Given the description of an element on the screen output the (x, y) to click on. 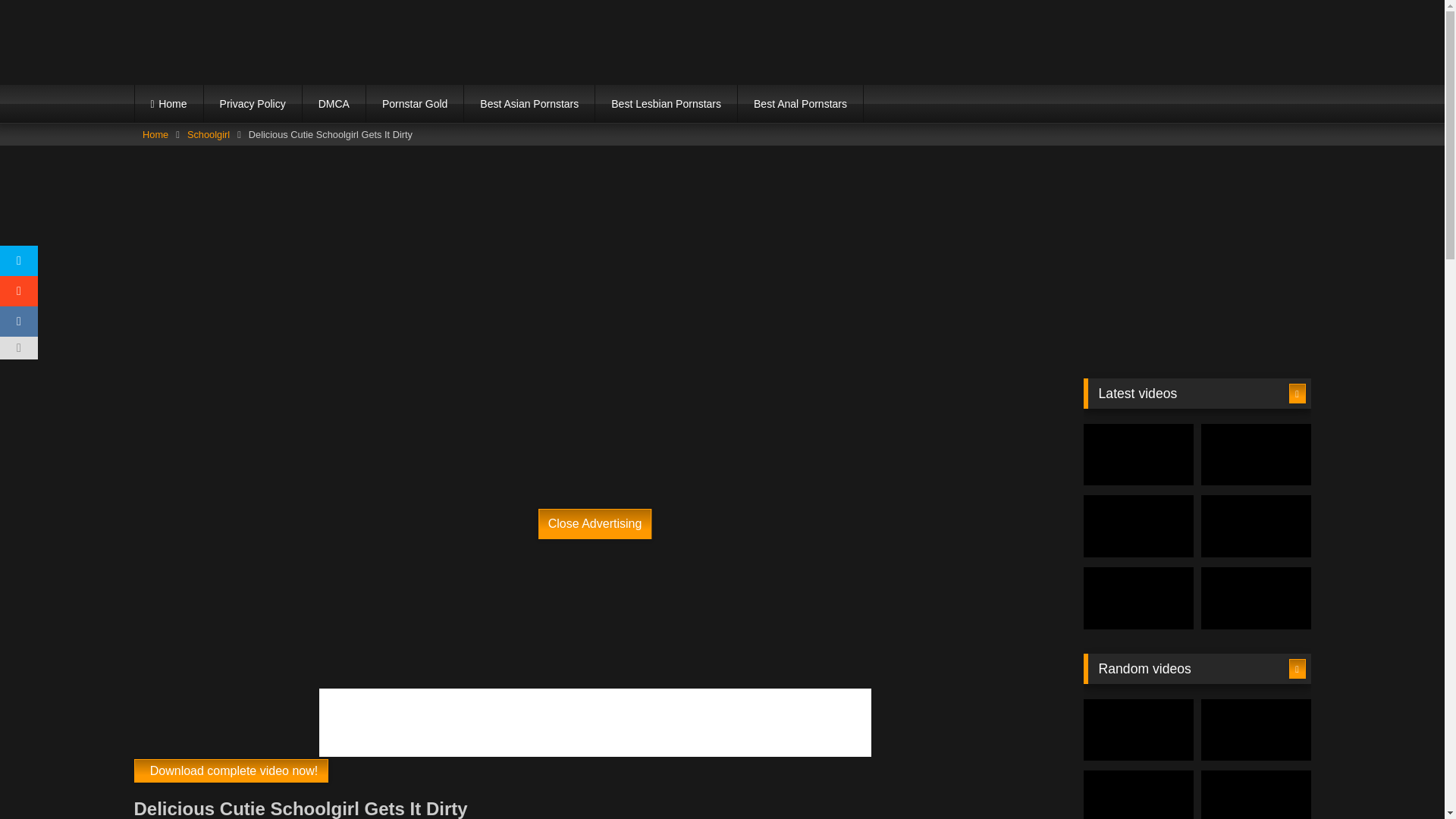
Home (155, 134)
DMCA (333, 103)
Schoolgirl (208, 134)
Pornstar Gold (414, 103)
Best Asian Pornstars (529, 103)
Best Anal Pornstars (800, 103)
Best Lesbian Pornstars (665, 103)
Home (169, 103)
Download complete video now! (231, 770)
Close Advertising (595, 523)
Privacy Policy (252, 103)
Delicious Cutie Schoolgirl Gets It Dirty (231, 770)
RolePlay Star (265, 41)
